Given the description of an element on the screen output the (x, y) to click on. 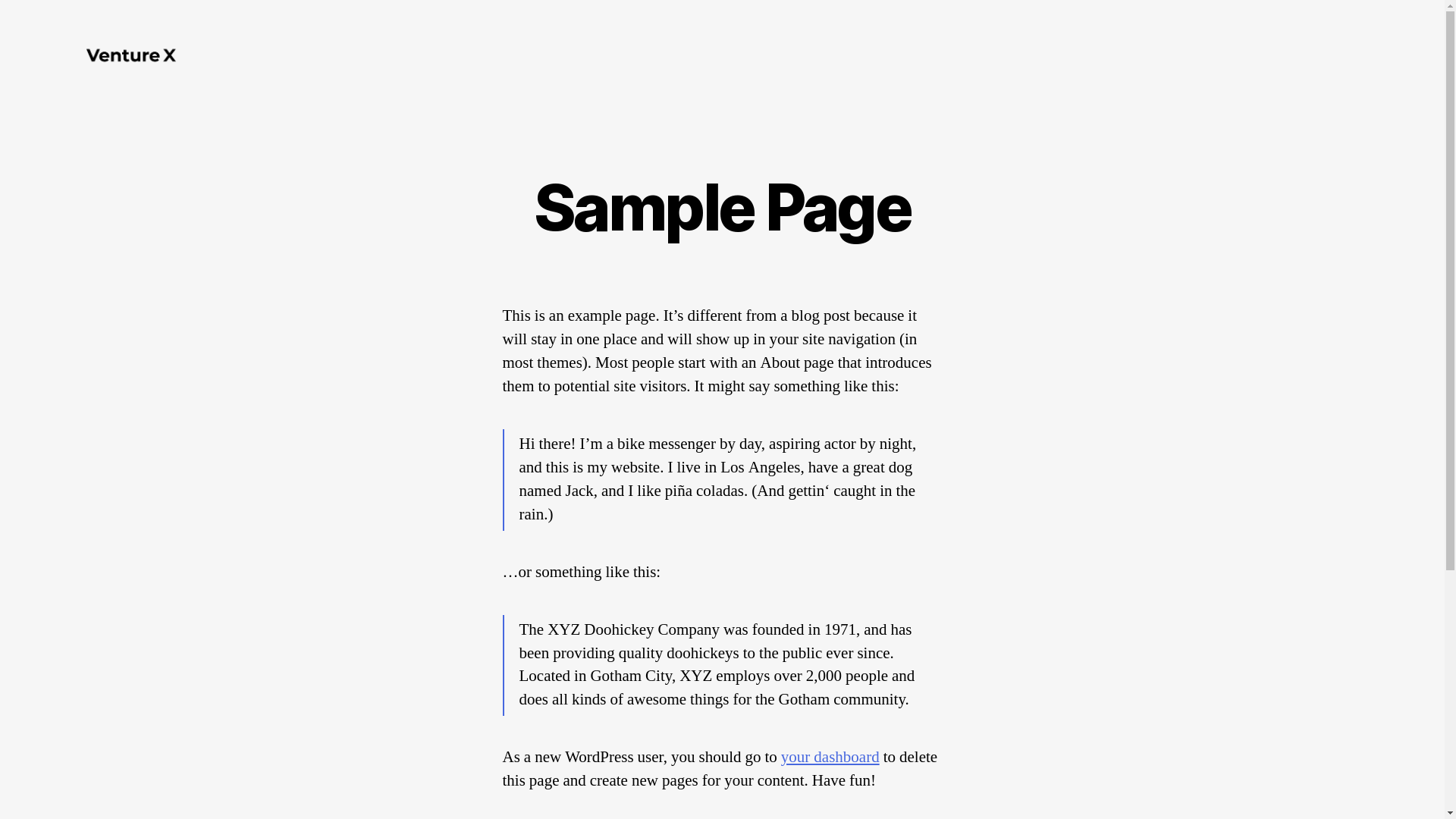
your dashboard Element type: text (830, 756)
